Given the description of an element on the screen output the (x, y) to click on. 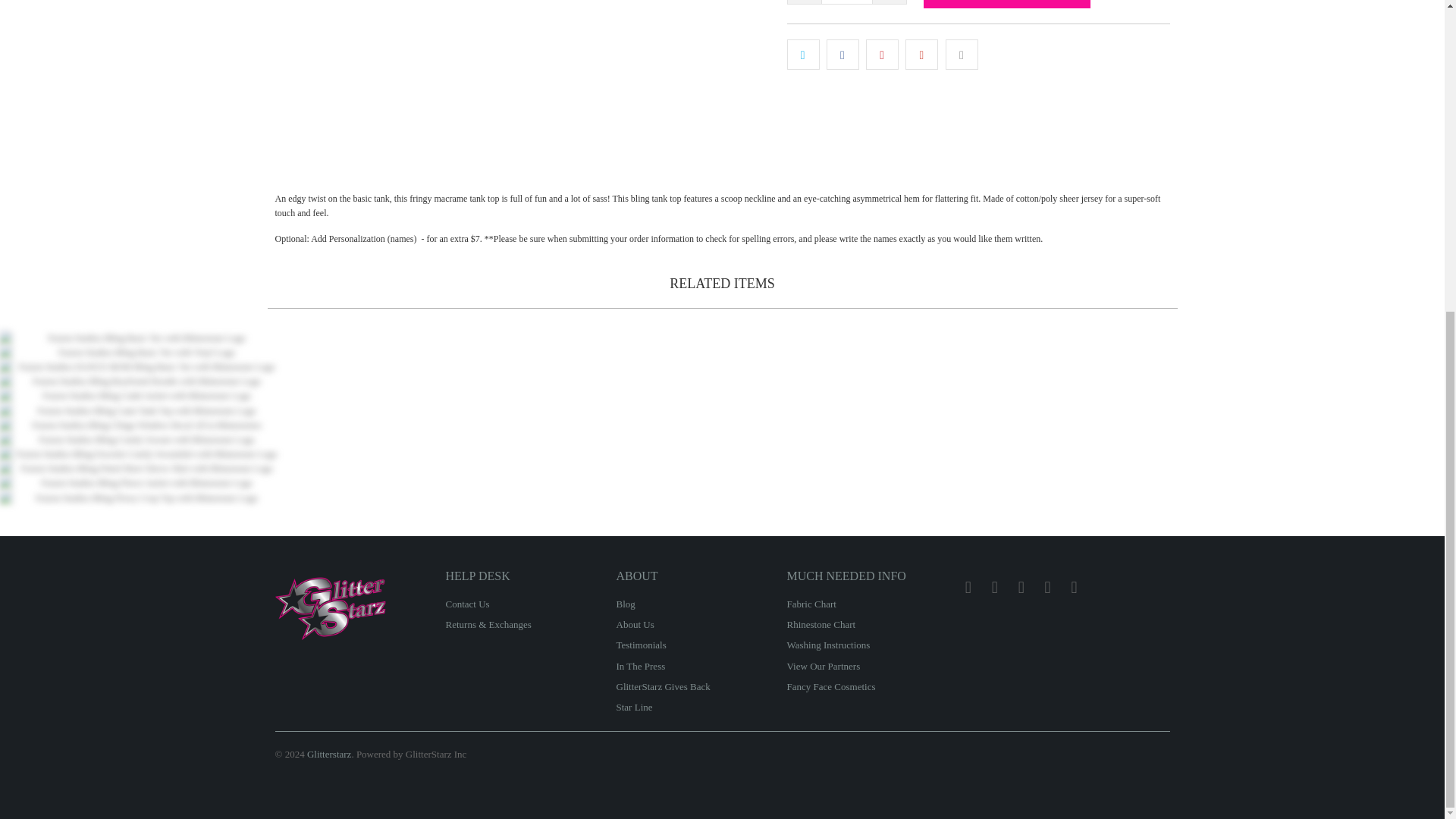
Glitterstarz on Instagram (1021, 587)
Share this on Pinterest (882, 53)
Glitterstarz on Facebook (967, 587)
Email Glitterstarz (1074, 587)
1 (846, 2)
Email this to a friend (961, 53)
Glitterstarz on YouTube (995, 587)
Glitterstarz on Snapchat (1047, 587)
Share this on Twitter (803, 53)
Share this on Facebook (843, 53)
